Given the description of an element on the screen output the (x, y) to click on. 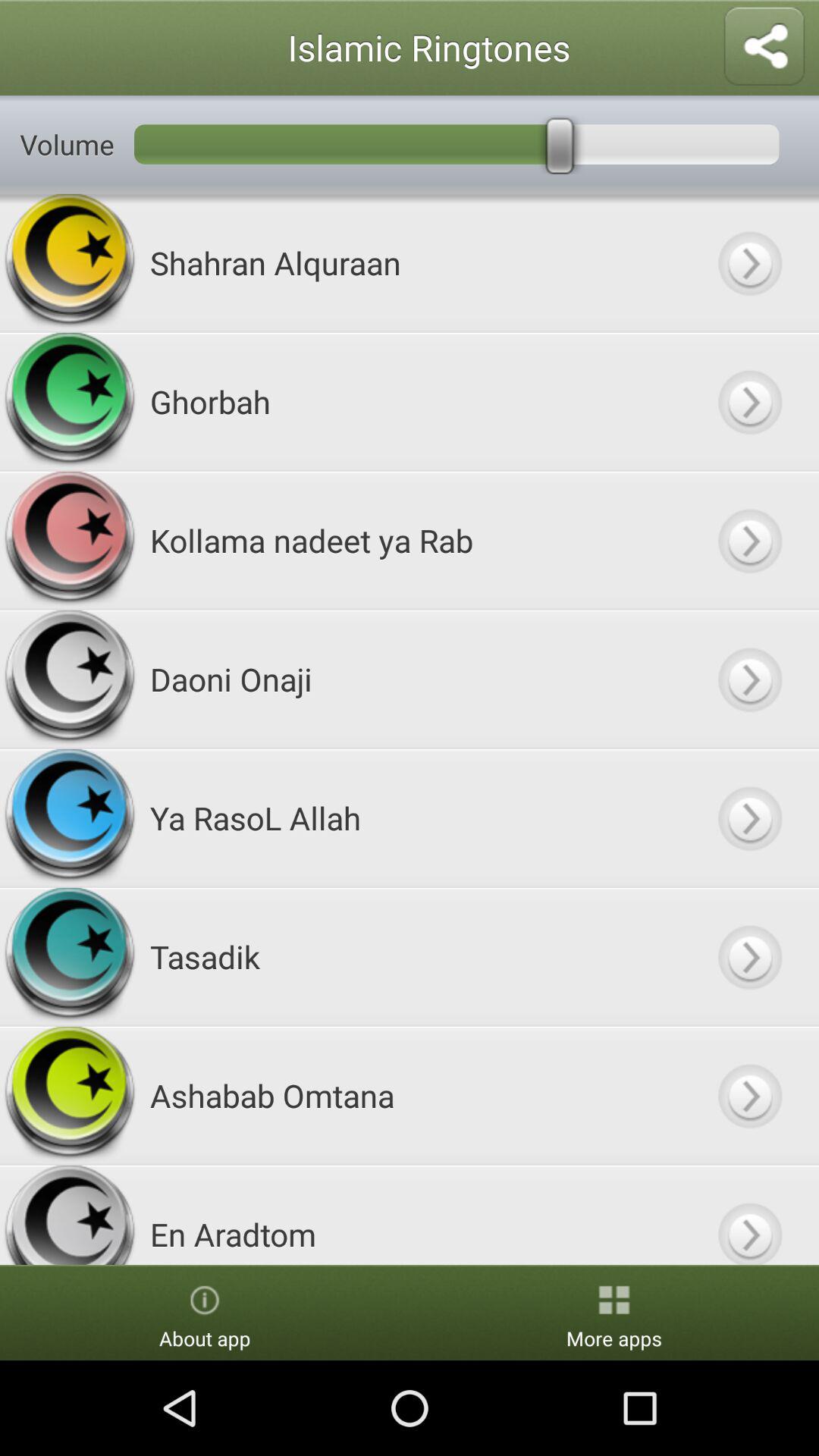
play the ringtone (749, 818)
